Given the description of an element on the screen output the (x, y) to click on. 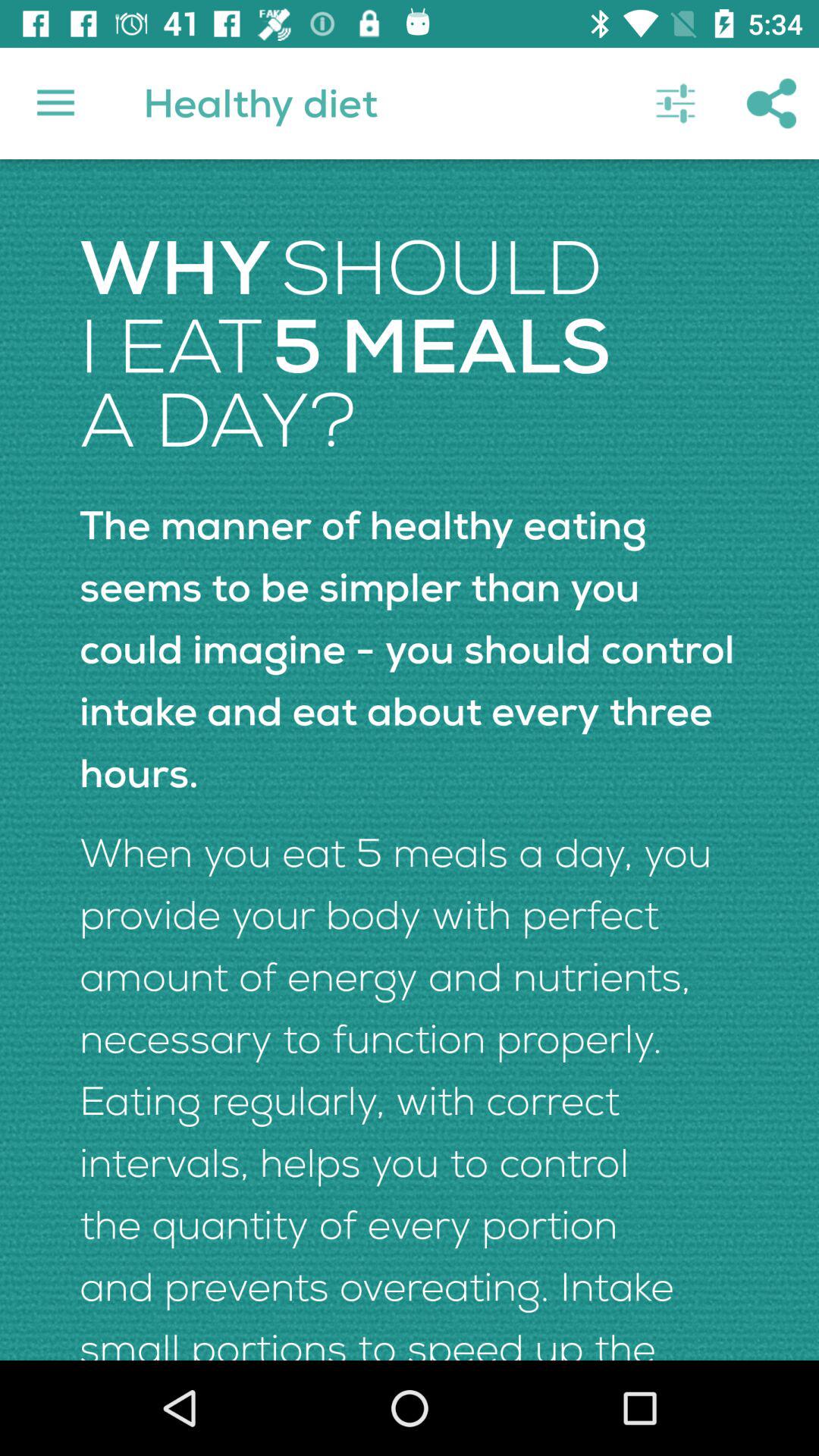
select item next to the healthy diet icon (675, 103)
